Given the description of an element on the screen output the (x, y) to click on. 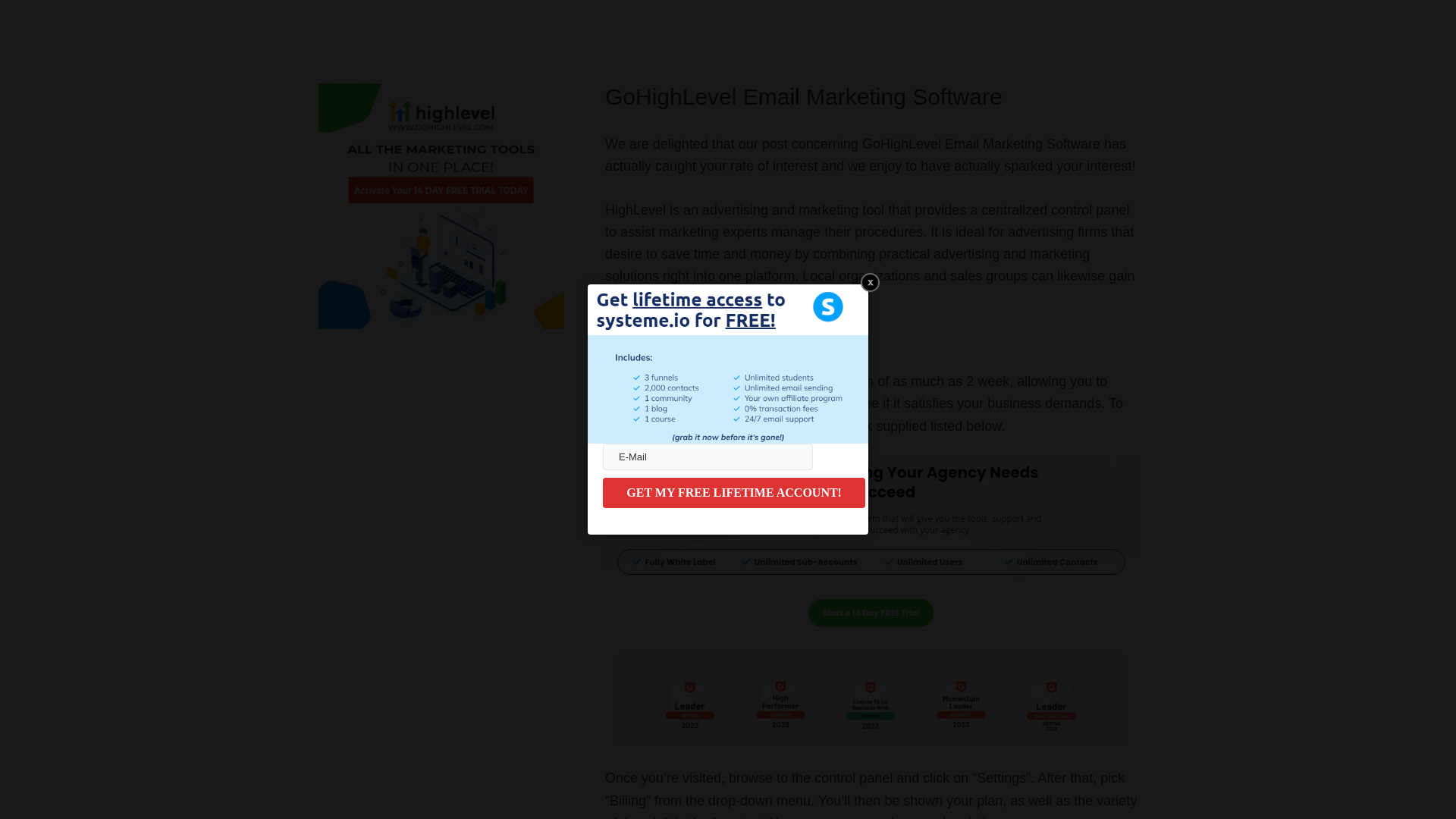
GET MY FREE LIFETIME ACCOUNT! (733, 492)
GET MY FREE LIFETIME ACCOUNT! (733, 492)
